Given the description of an element on the screen output the (x, y) to click on. 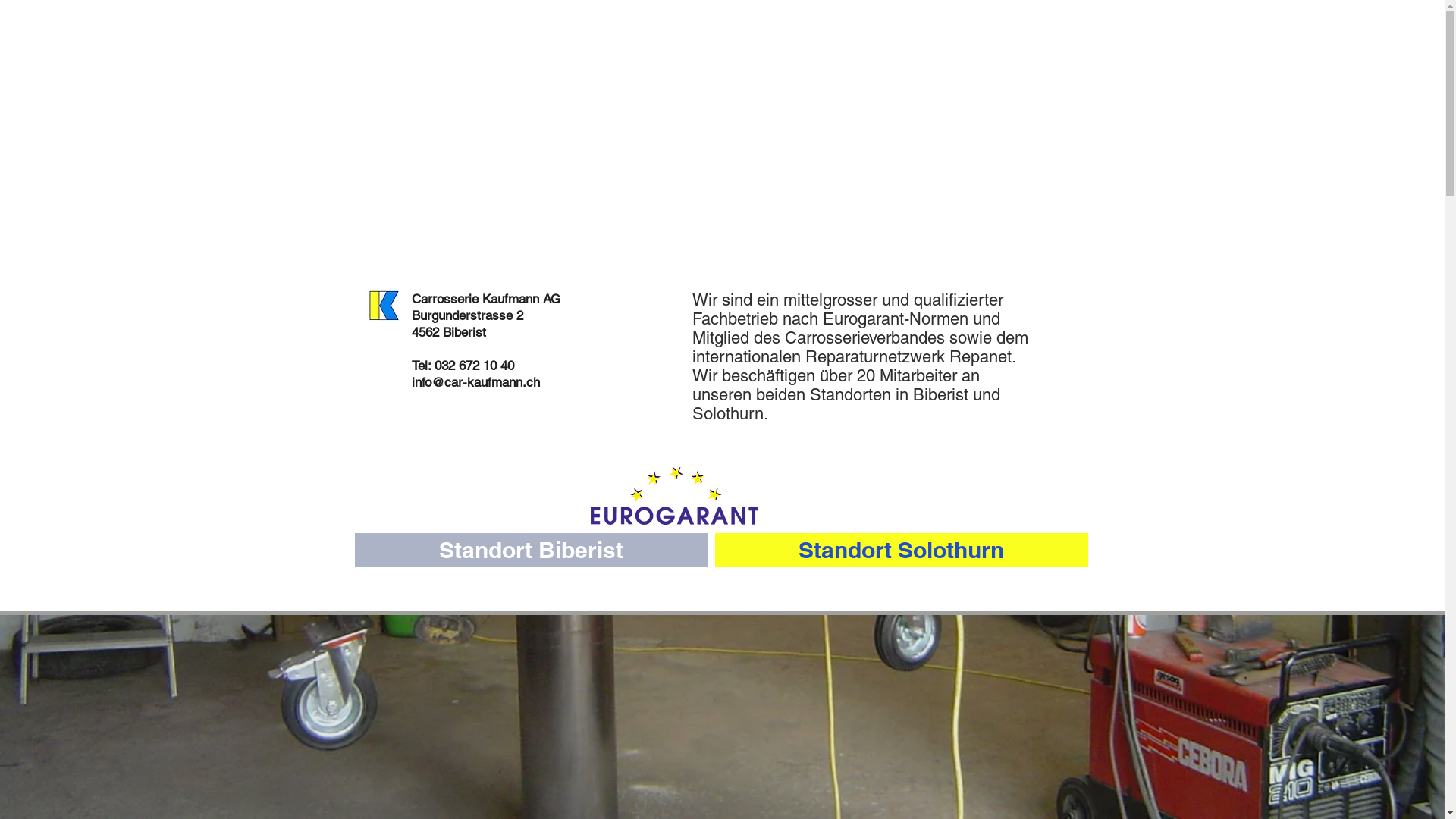
Standort Biberist Element type: text (530, 550)
info@car-kaufmann.ch Element type: text (475, 381)
Standort Solothurn Element type: text (900, 550)
